Given the description of an element on the screen output the (x, y) to click on. 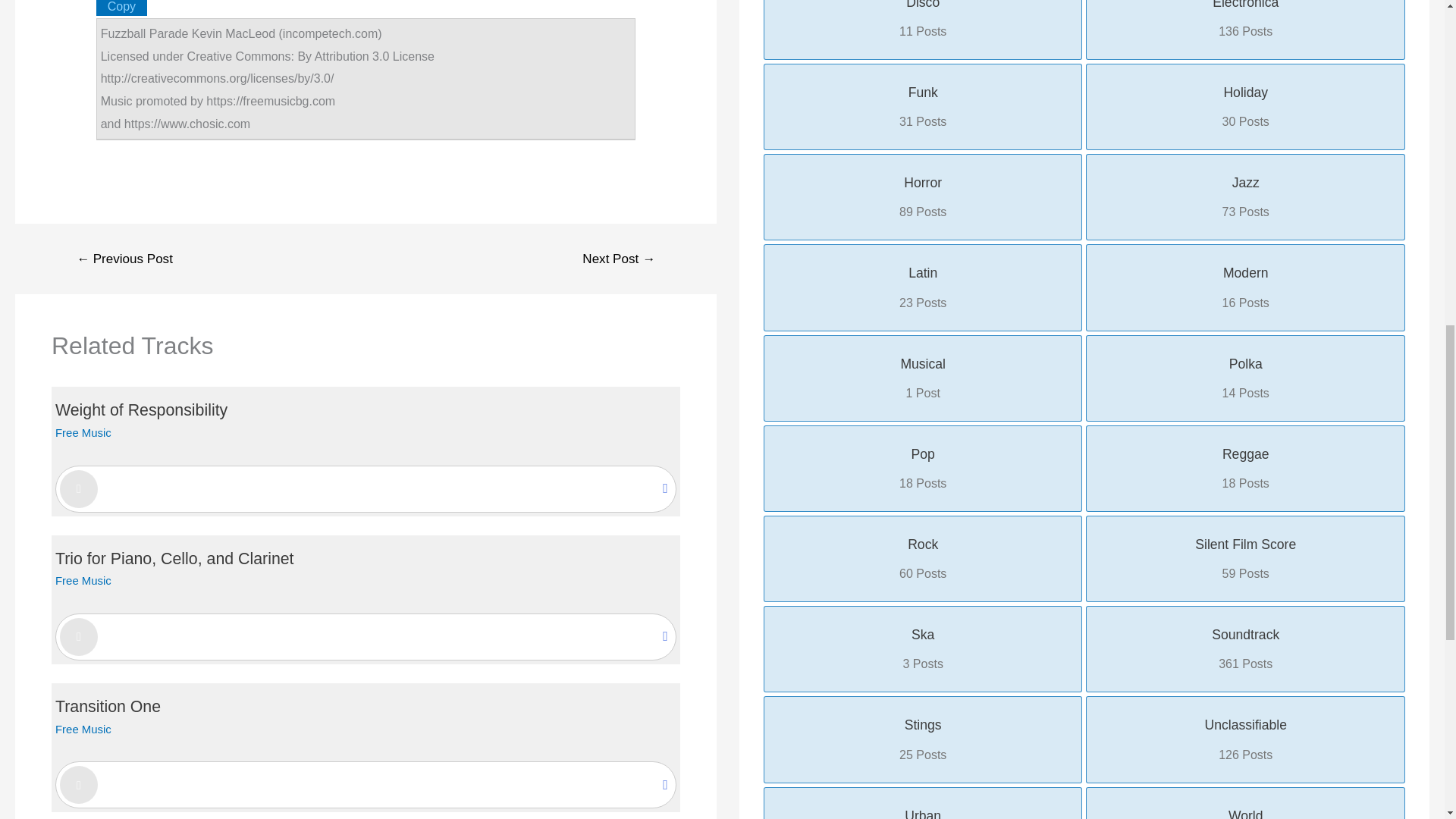
Trio for Piano, Cello, and Clarinet (174, 558)
Weight of Responsibility (141, 410)
Free Music (83, 431)
Free Music (83, 580)
